Given the description of an element on the screen output the (x, y) to click on. 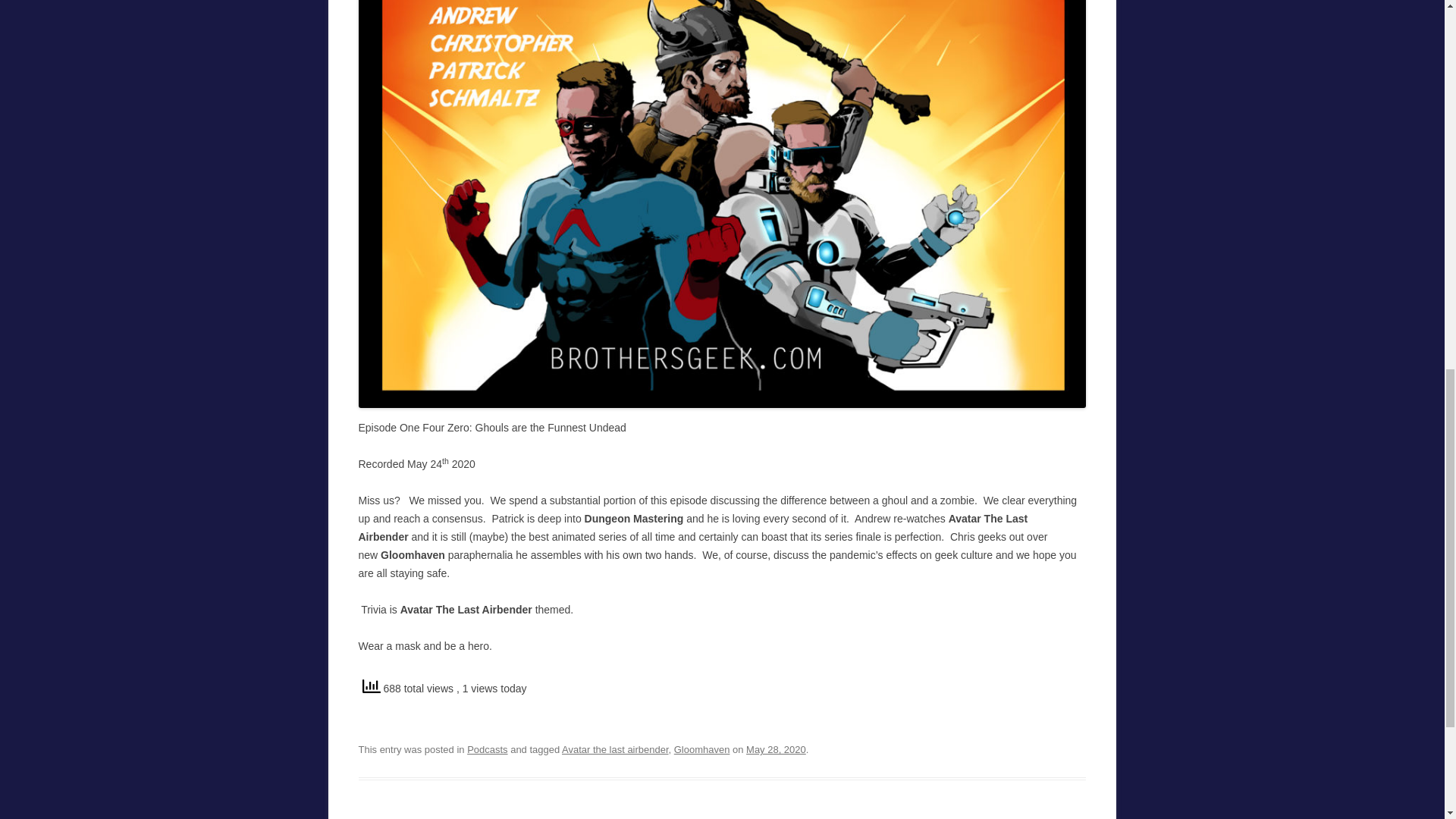
Podcasts (486, 749)
Gloomhaven (702, 749)
3:23 am (775, 749)
May 28, 2020 (775, 749)
Avatar the last airbender (615, 749)
